Given the description of an element on the screen output the (x, y) to click on. 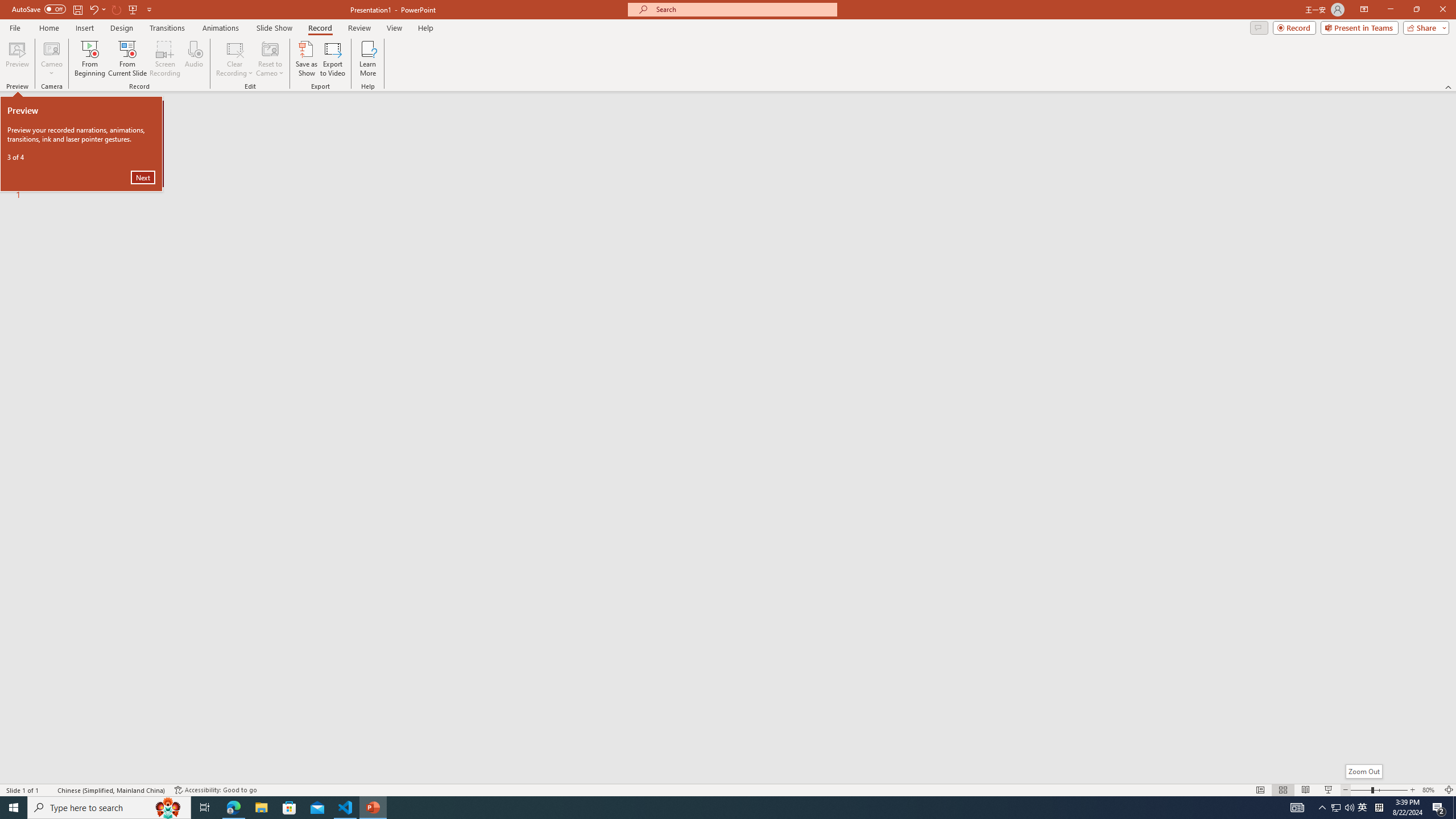
From Beginning... (89, 58)
Accessibility Checker Accessibility: Good to go (216, 790)
